Given the description of an element on the screen output the (x, y) to click on. 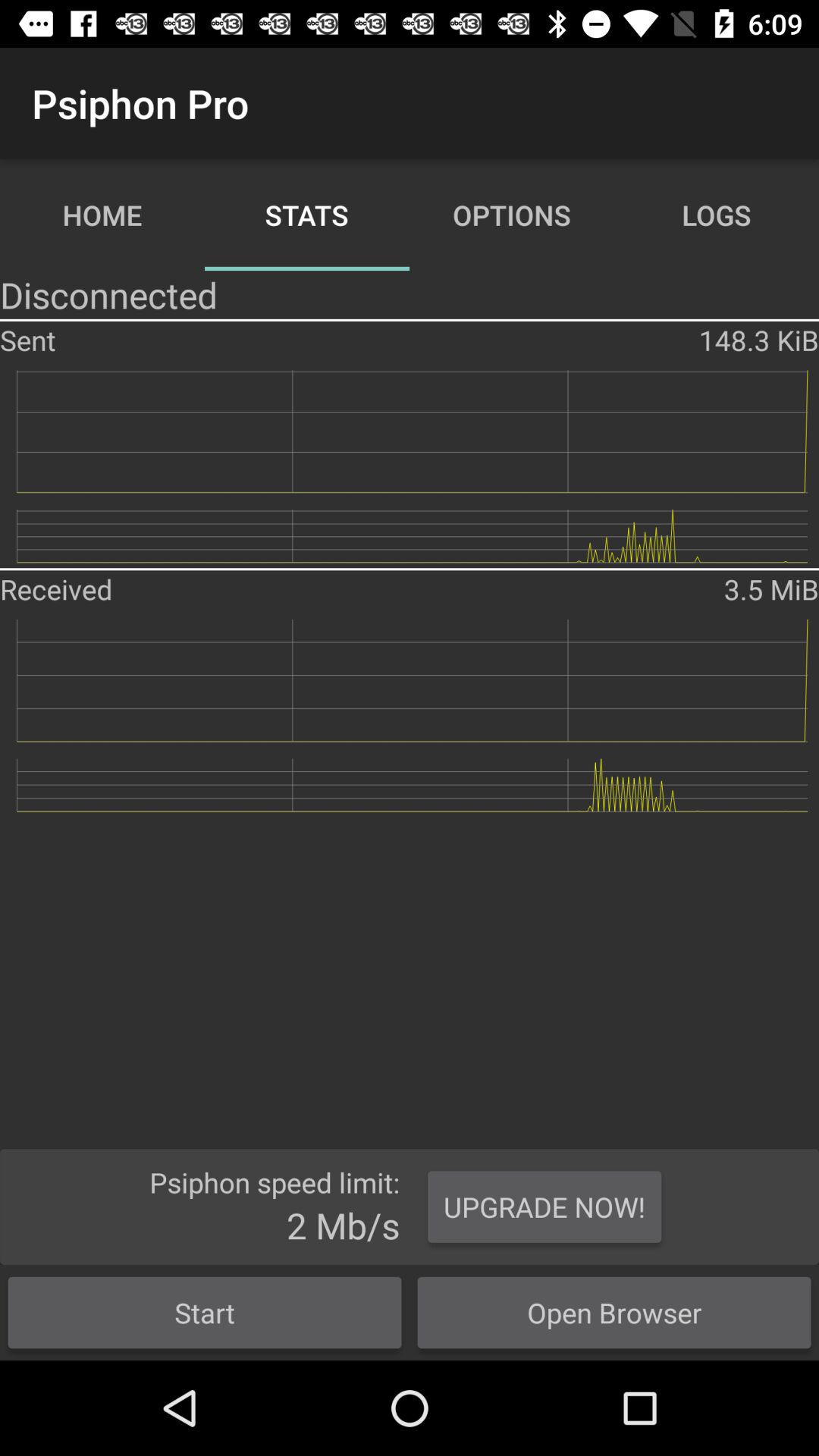
turn off the item next to the open browser button (204, 1312)
